Given the description of an element on the screen output the (x, y) to click on. 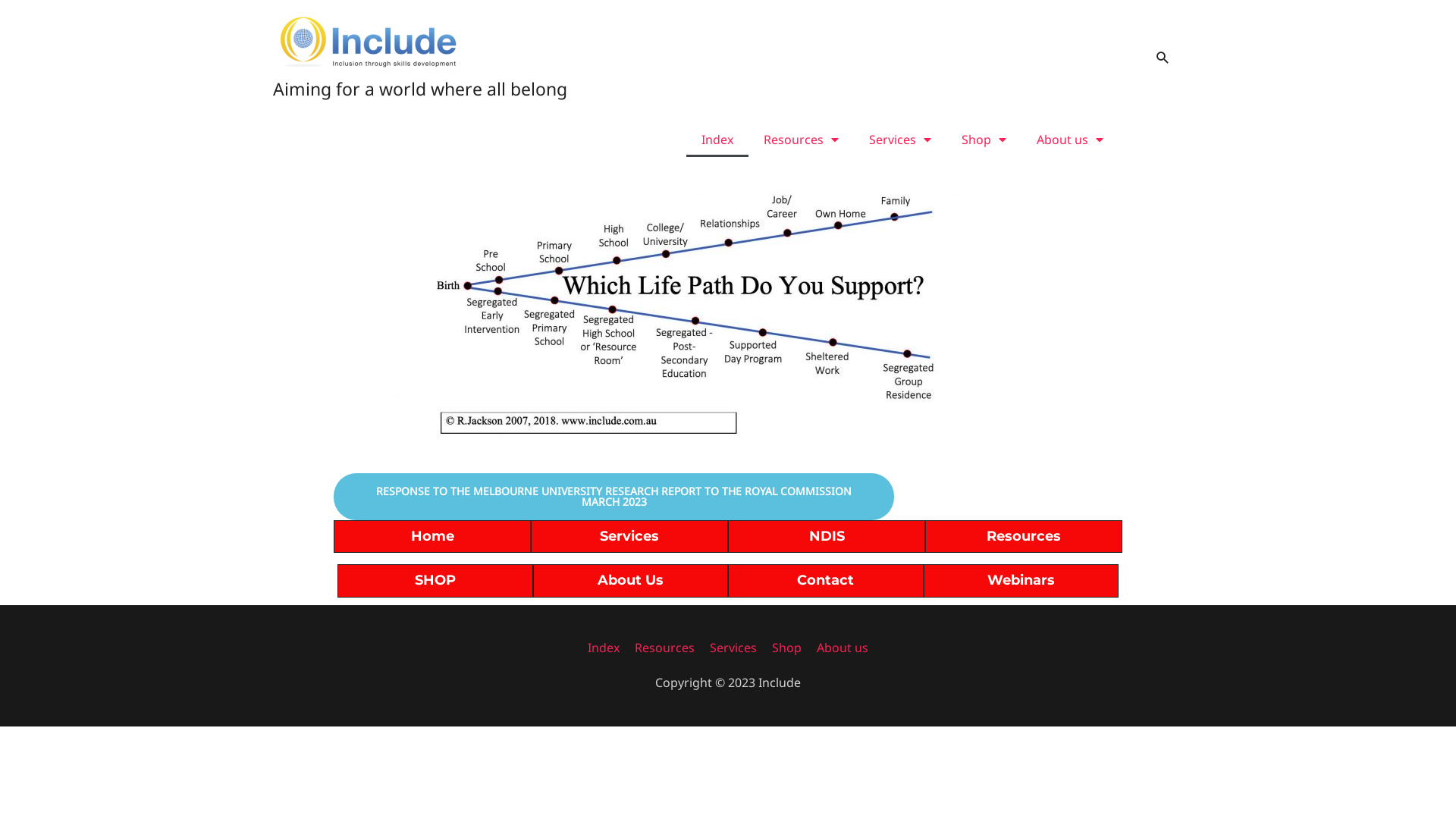
Webinars Element type: text (1020, 579)
Resources Element type: text (800, 138)
About Us Element type: text (630, 579)
Services Element type: text (899, 138)
NDIS Element type: text (826, 535)
Resources Element type: text (1023, 535)
About us Element type: text (1069, 138)
Home Element type: text (432, 535)
Shop Element type: text (786, 647)
Contact Element type: text (825, 579)
Shop Element type: text (983, 138)
SHOP Element type: text (434, 579)
Index Element type: text (717, 138)
Search Element type: text (1162, 57)
Services Element type: text (732, 647)
Services Element type: text (628, 535)
Index Element type: text (606, 647)
About us Element type: text (839, 647)
Resources Element type: text (664, 647)
